Given the description of an element on the screen output the (x, y) to click on. 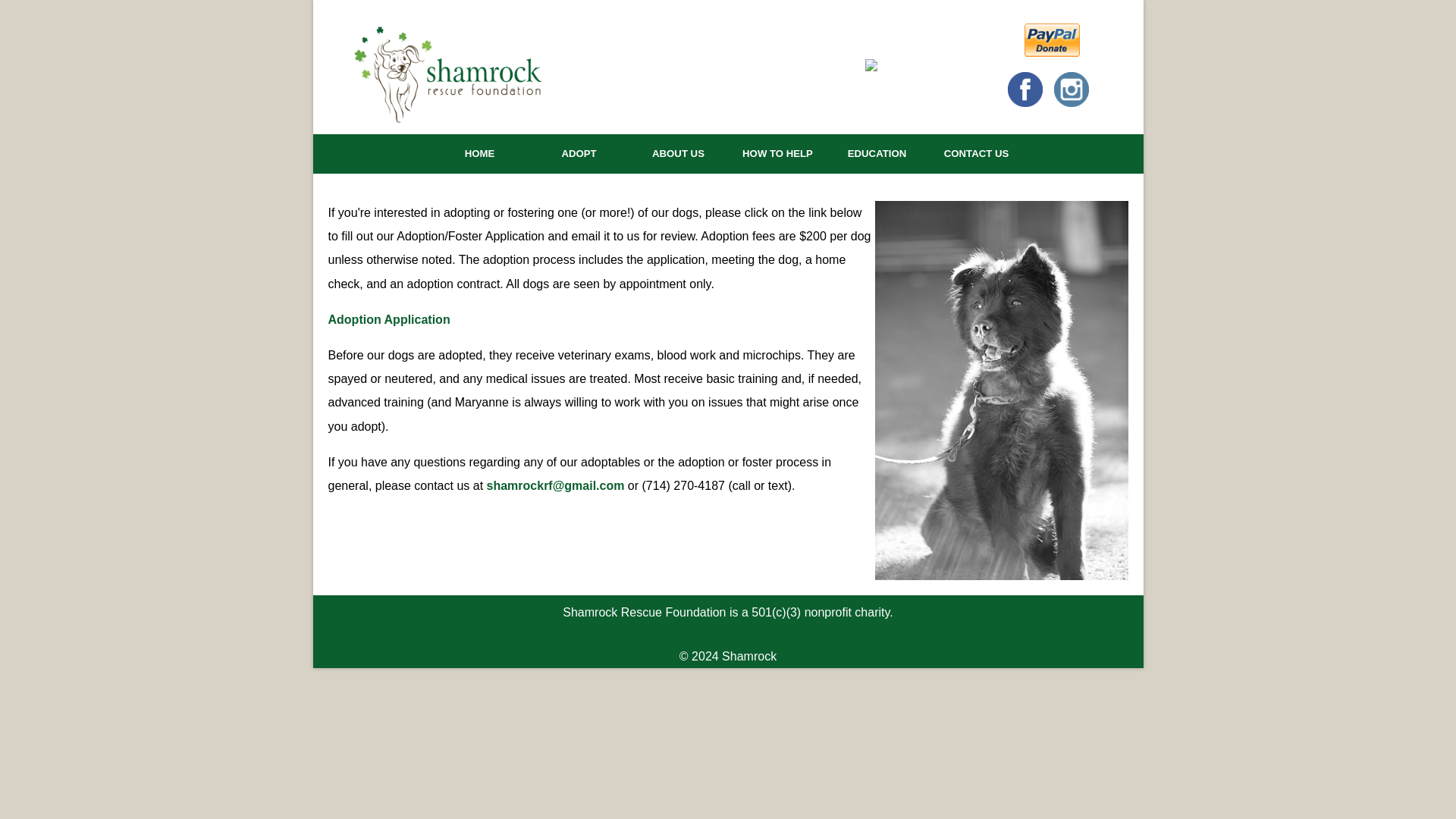
Adoption Application (388, 318)
